Given the description of an element on the screen output the (x, y) to click on. 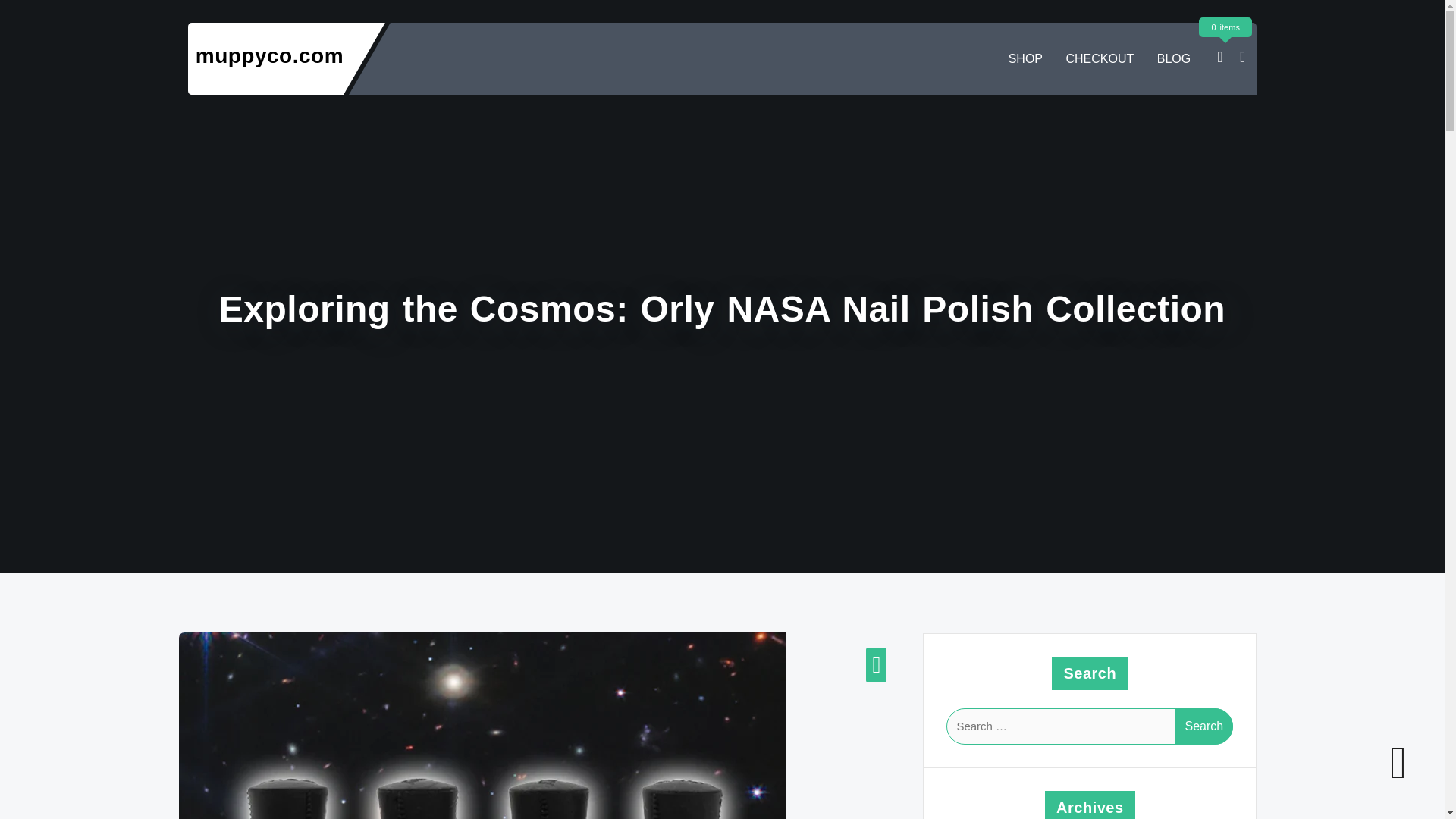
CHECKOUT (1099, 58)
muppyco.com (269, 55)
Search (1203, 726)
Search (1203, 726)
BLOG (1173, 58)
SHOP (1024, 58)
Search (1203, 726)
